Given the description of an element on the screen output the (x, y) to click on. 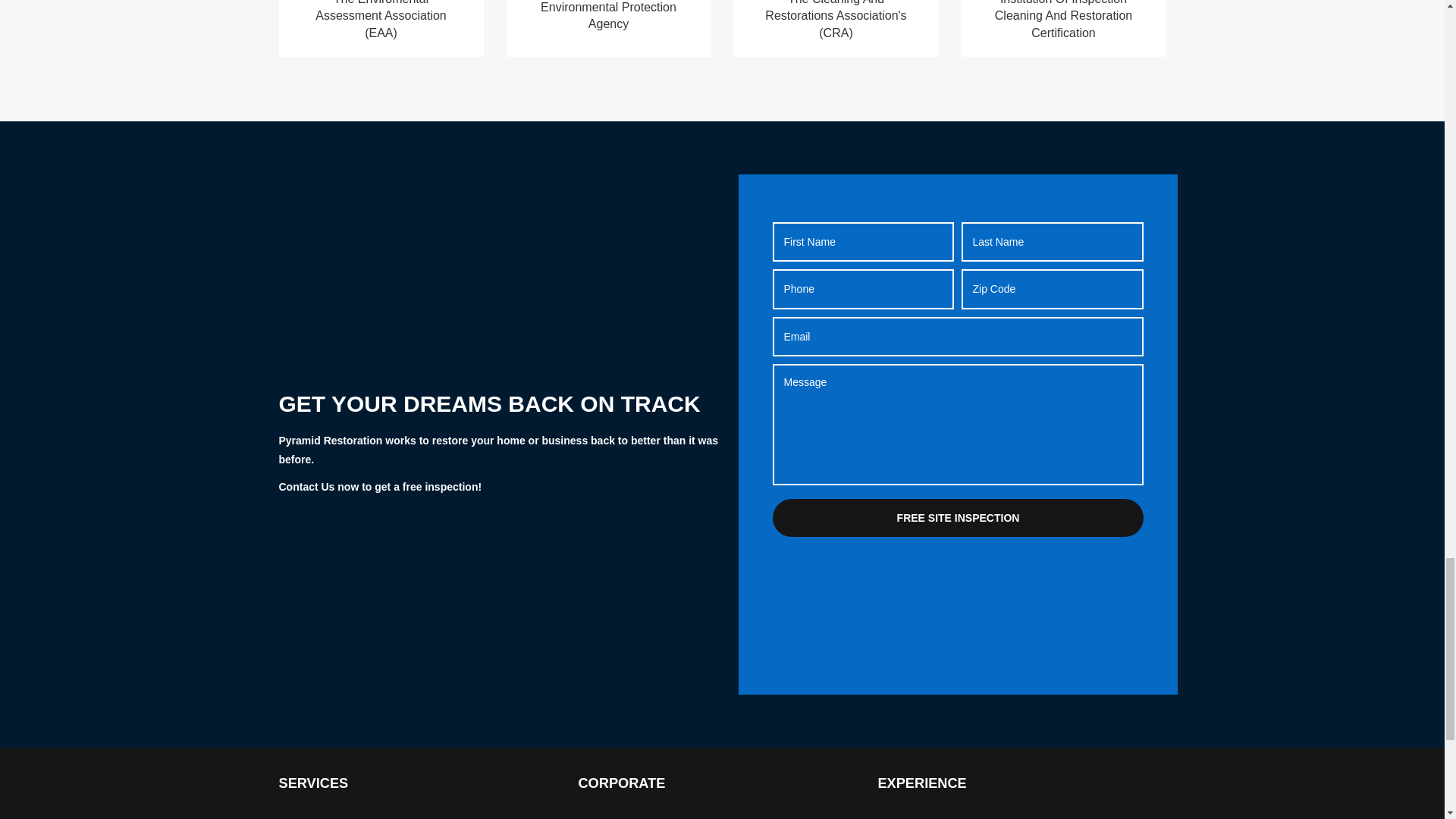
Free Site Inspection (957, 517)
Contact Us (306, 486)
Free Site Inspection (957, 517)
